Given the description of an element on the screen output the (x, y) to click on. 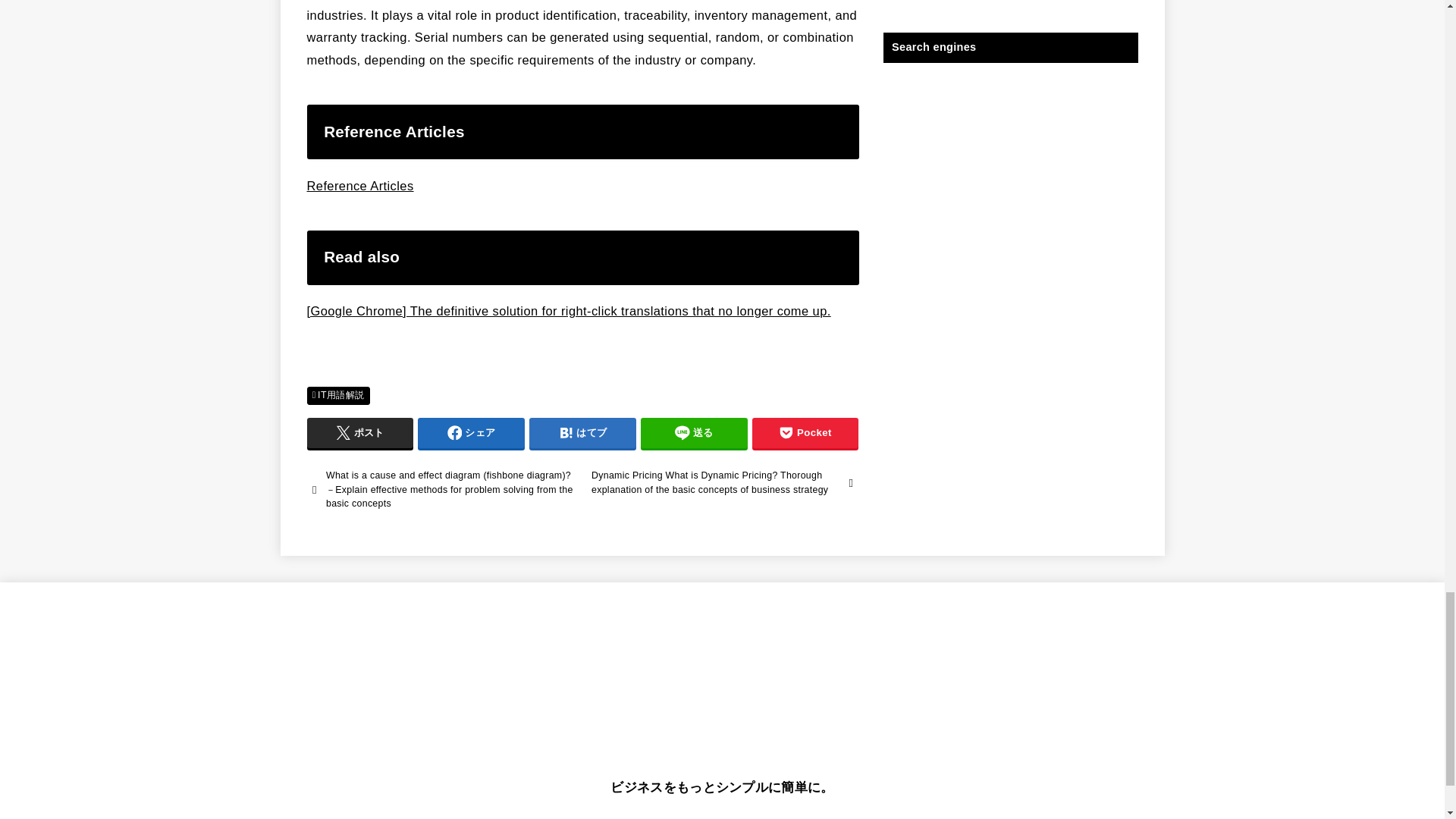
Reference Articles (359, 185)
Pocket (805, 432)
